Given the description of an element on the screen output the (x, y) to click on. 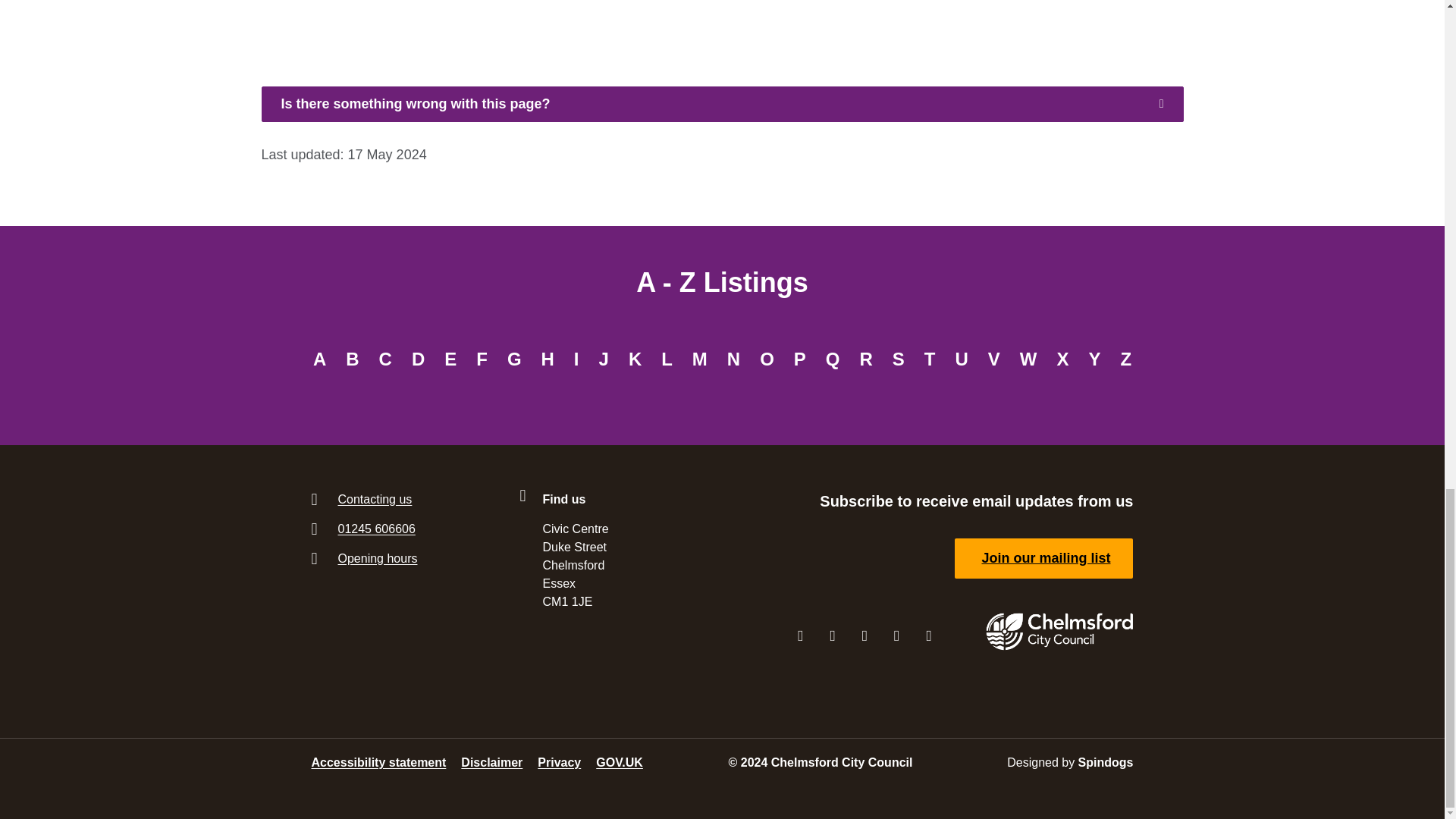
C (385, 359)
E (449, 359)
D (417, 359)
K (634, 359)
A (319, 359)
B (352, 359)
Is there something wrong with this page? (721, 103)
L (666, 359)
A (319, 359)
D (417, 359)
